Given the description of an element on the screen output the (x, y) to click on. 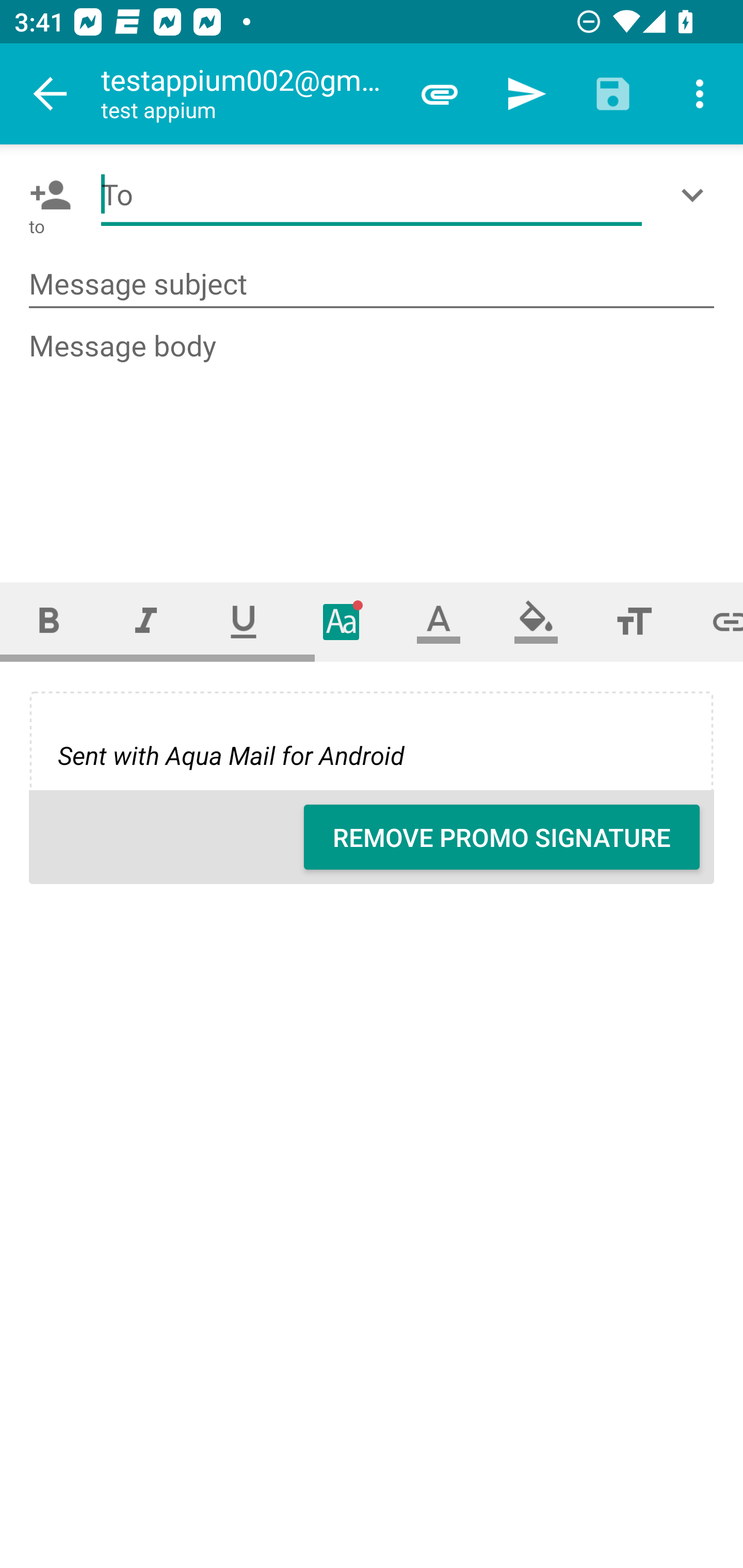
Navigate up (50, 93)
testappium002@gmail.com test appium (248, 93)
Attach (439, 93)
Send (525, 93)
Save (612, 93)
More options (699, 93)
Pick contact: To (46, 195)
Show/Add CC/BCC (696, 195)
To (371, 195)
Message subject (371, 284)
Bold (48, 621)
Italic (145, 621)
Underline (243, 621)
Typeface (font) (341, 621)
Text color (438, 621)
Fill color (536, 621)
Font size (633, 621)
Set link (712, 621)
REMOVE PROMO SIGNATURE (501, 837)
